Given the description of an element on the screen output the (x, y) to click on. 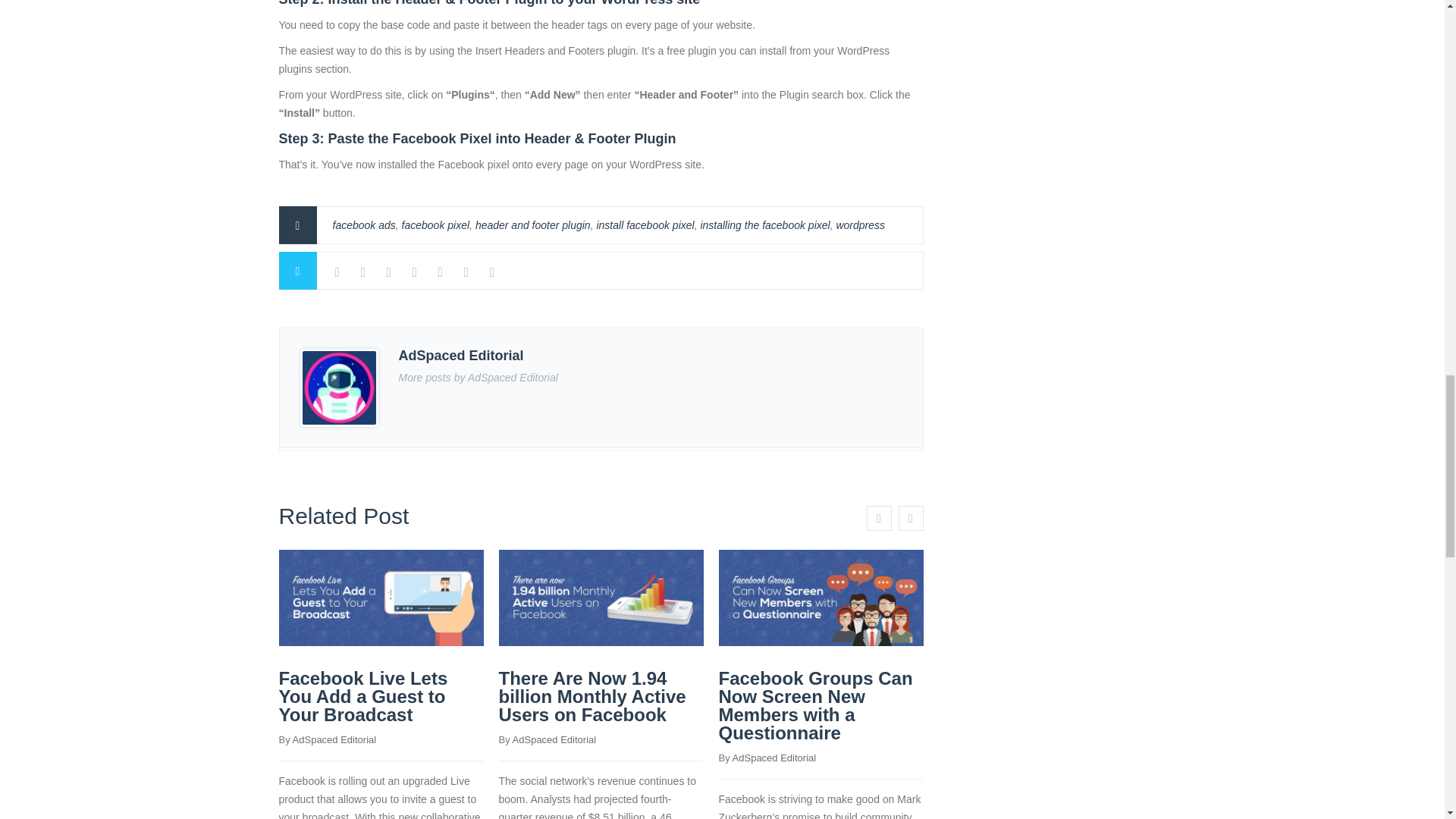
Facebook Live Lets You Add a Guest to Your Broadcast (363, 696)
facebook pixel (435, 224)
wordpress (860, 224)
More posts by AdSpaced Editorial (477, 377)
There Are Now 1.94 billion Monthly Active Users on Facebook (592, 696)
installing the facebook pixel (764, 224)
Posts by AdSpaced Editorial (774, 757)
facebook ads (362, 224)
AdSpaced Editorial (334, 739)
Posts by AdSpaced Editorial (334, 739)
header and footer plugin (533, 224)
Posts by AdSpaced Editorial (554, 739)
install facebook pixel (644, 224)
Facebook Live Lets You Add a Guest to Your Broadcast (363, 696)
